Given the description of an element on the screen output the (x, y) to click on. 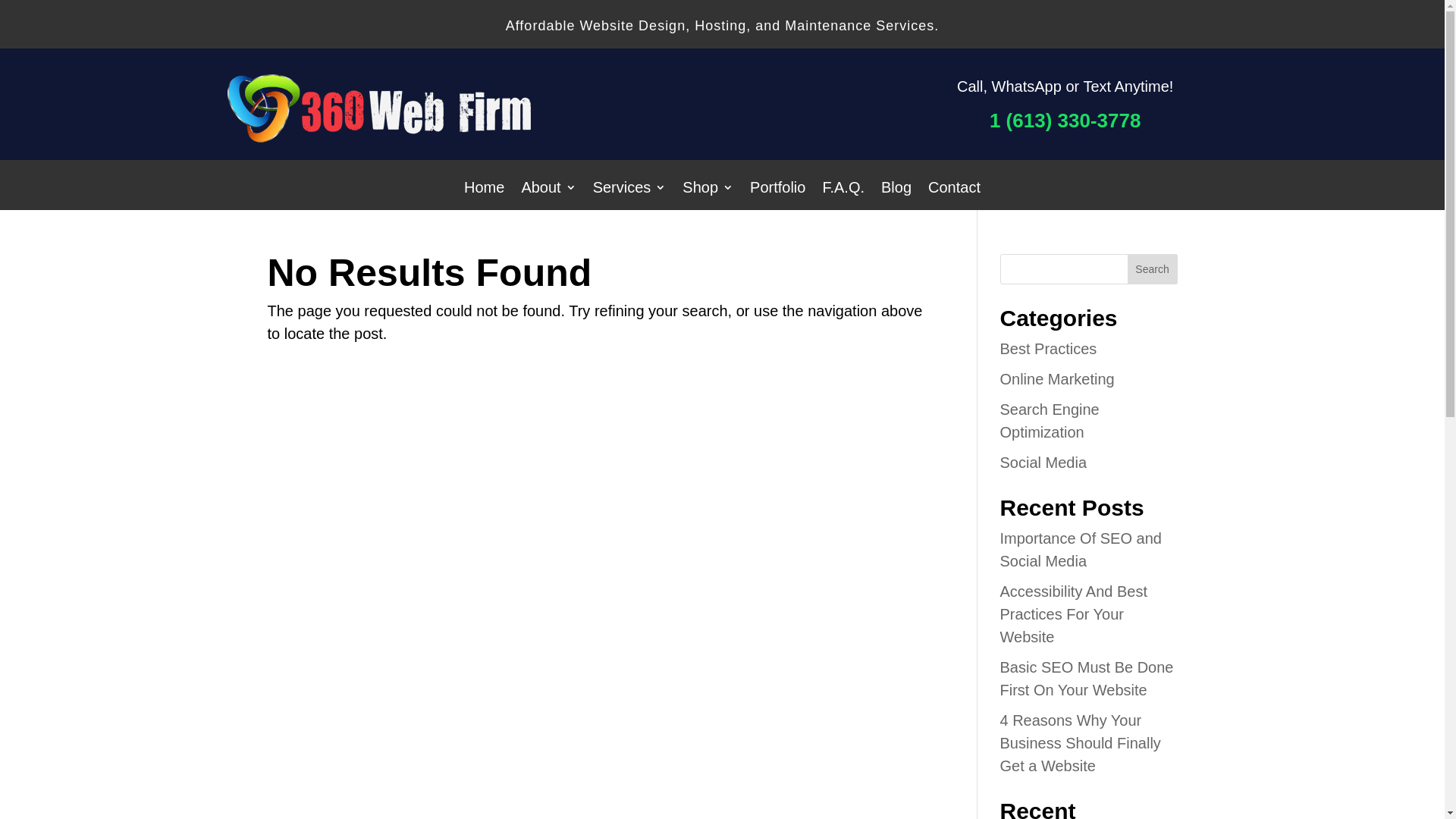
Blog Element type: text (896, 190)
Shop Element type: text (707, 190)
Importance Of SEO and Social Media Element type: text (1080, 549)
Online Marketing Element type: text (1056, 378)
Search Engine Optimization Element type: text (1048, 420)
4 Reasons Why Your Business Should Finally Get a Website Element type: text (1079, 743)
F.A.Q. Element type: text (843, 190)
1 (613) 330-3778 Element type: text (1064, 120)
Services Element type: text (629, 190)
Home Element type: text (484, 190)
Accessibility And Best Practices For Your Website Element type: text (1073, 614)
Social Media Element type: text (1042, 462)
Basic SEO Must Be Done First On Your Website Element type: text (1086, 678)
About Element type: text (547, 190)
Portfolio Element type: text (777, 190)
360 Web Firm Main Logo Element type: hover (378, 137)
Best Practices Element type: text (1047, 348)
Search Element type: text (1152, 269)
Contact Element type: text (954, 190)
